Given the description of an element on the screen output the (x, y) to click on. 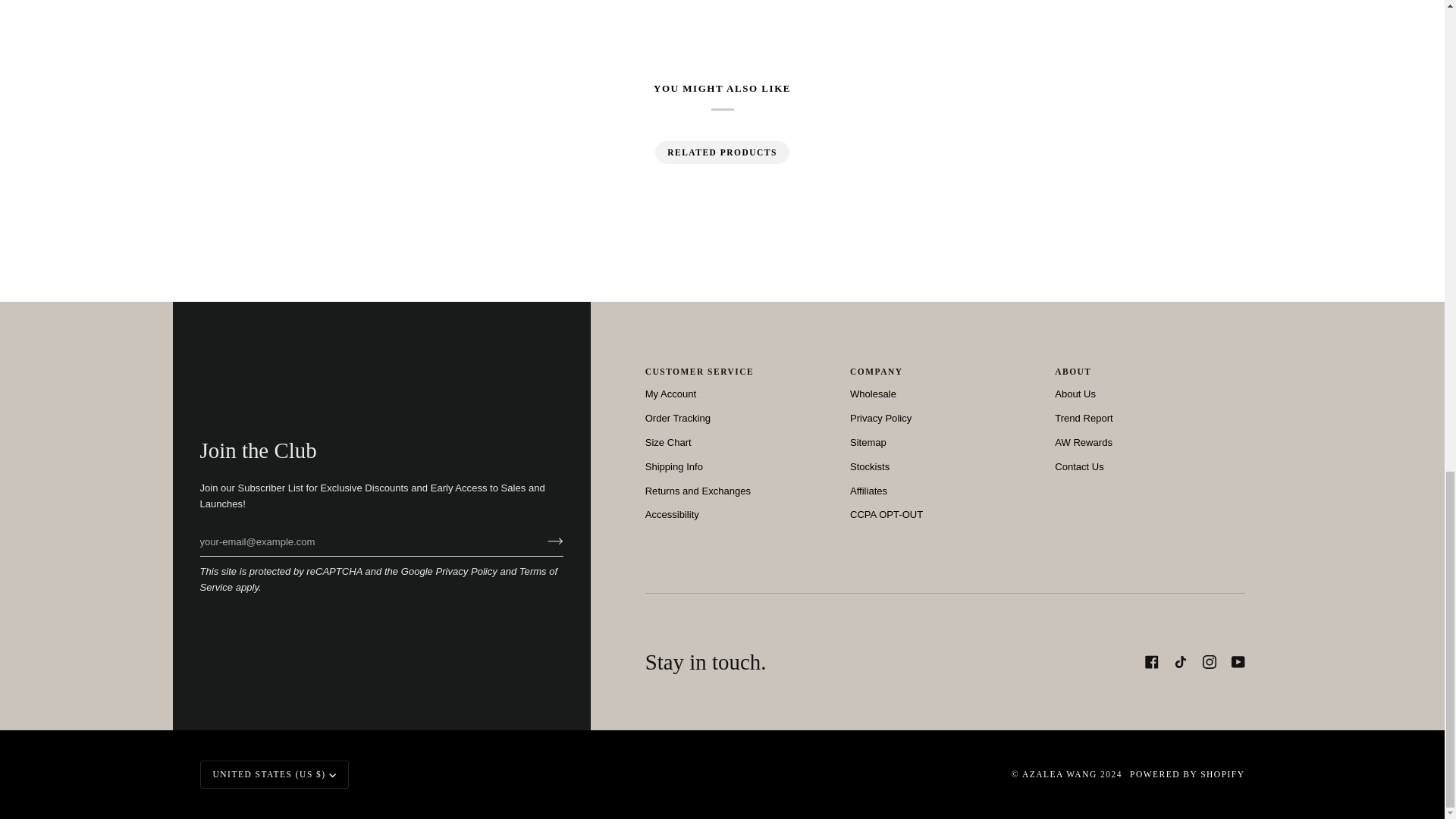
Tiktok (1180, 662)
RELATED PRODUCTS (722, 151)
Facebook (1151, 662)
Instagram (1208, 662)
YouTube (1237, 662)
